Given the description of an element on the screen output the (x, y) to click on. 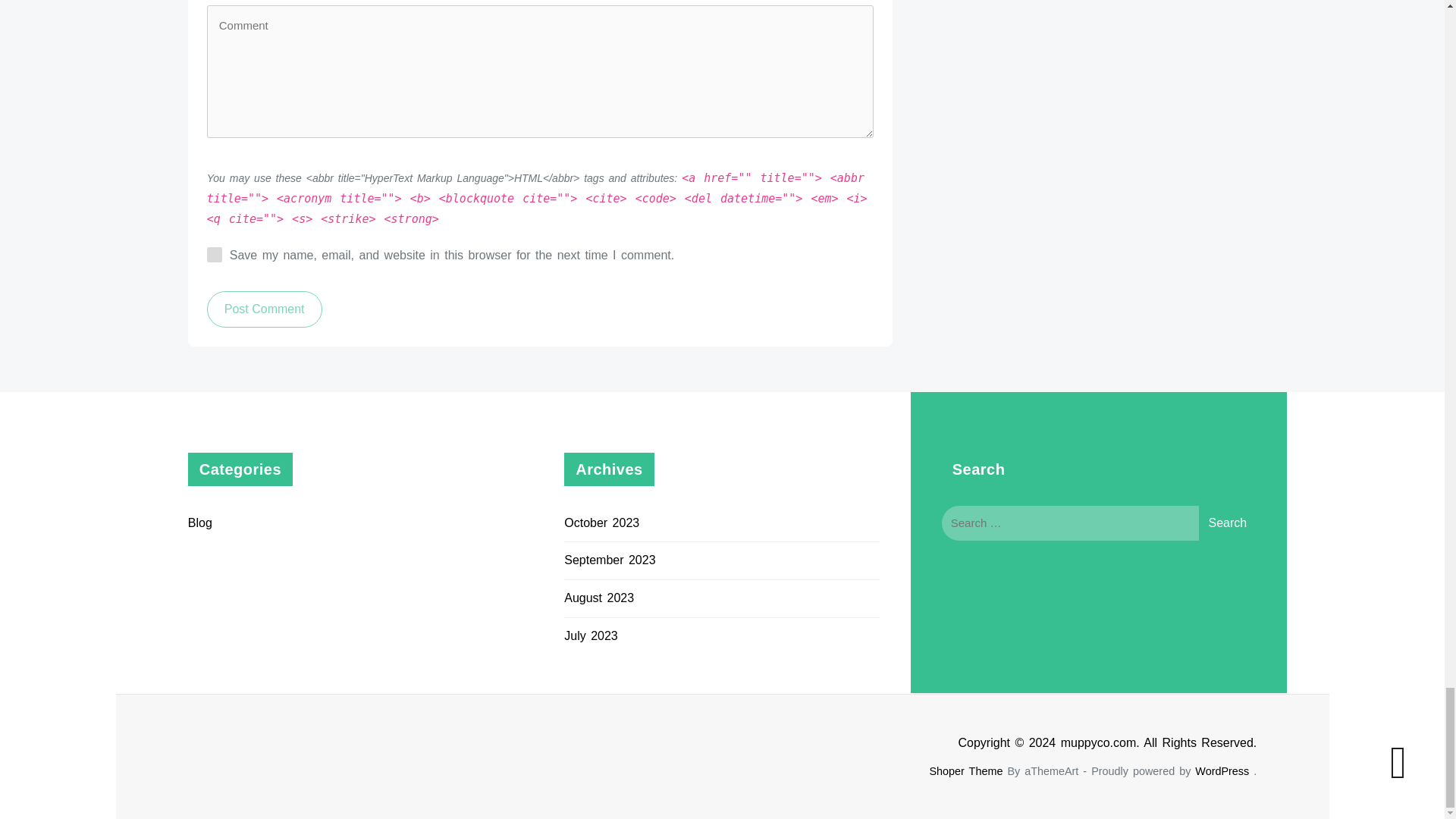
yes (214, 254)
Shoper Theme (965, 770)
WordPress (1222, 770)
September 2023 (609, 559)
Blog (199, 522)
August 2023 (598, 597)
Search (1227, 523)
Search (1227, 523)
Search (1227, 523)
July 2023 (590, 635)
